Given the description of an element on the screen output the (x, y) to click on. 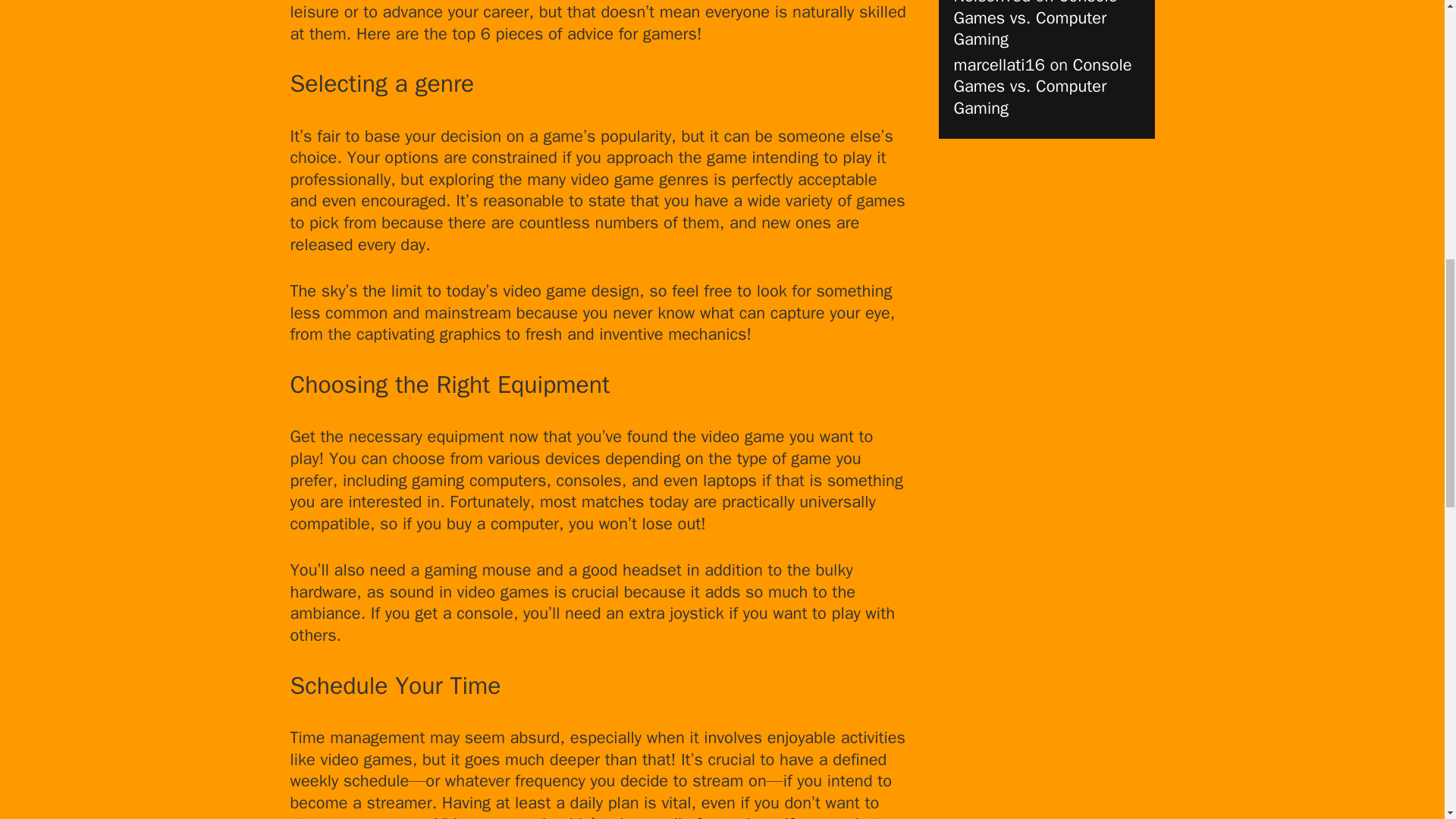
NelsonTed (991, 3)
Console Games vs. Computer Gaming (1035, 24)
